Given the description of an element on the screen output the (x, y) to click on. 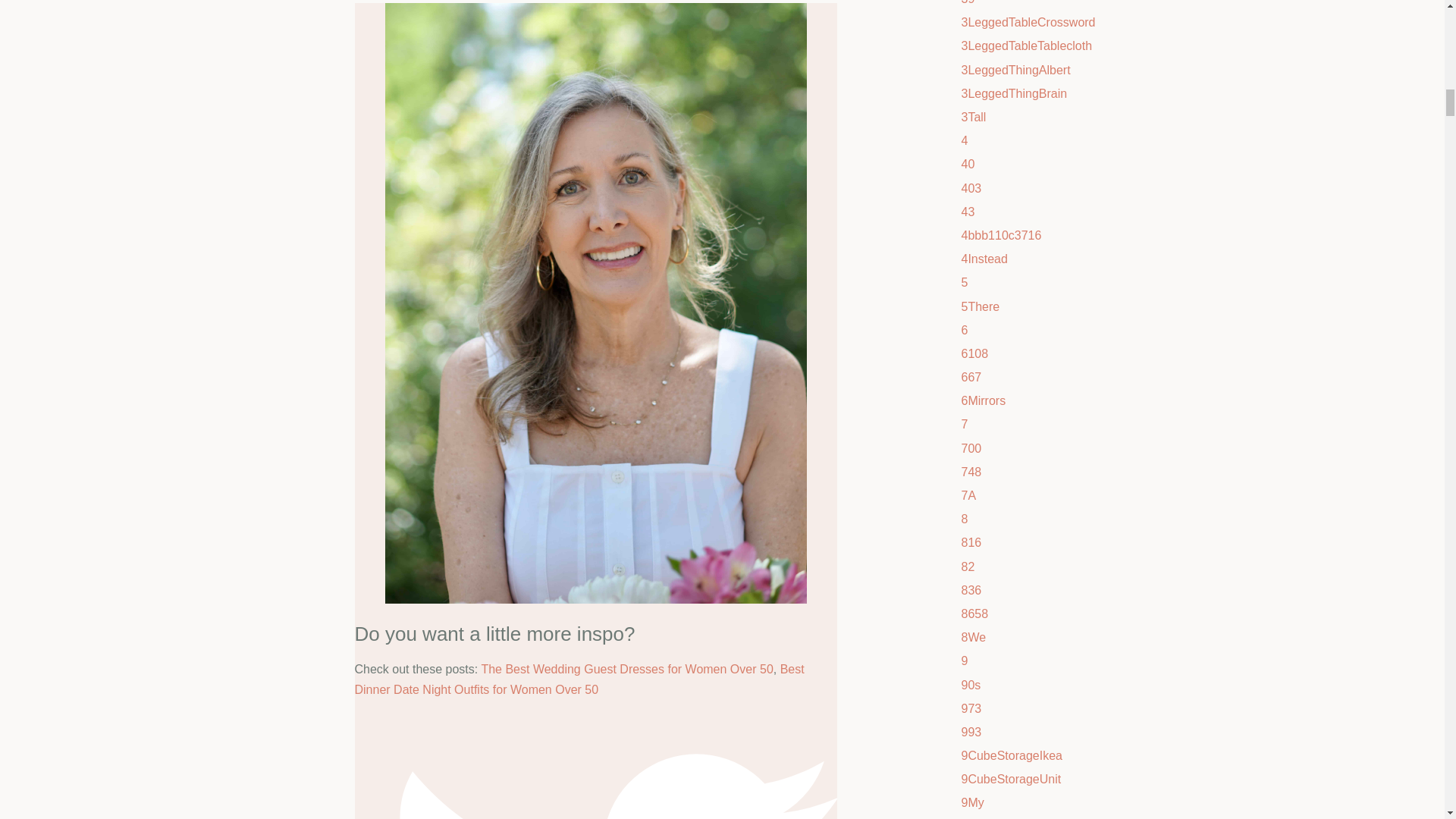
Best Dinner Date Night Outfits for Women Over 50 (580, 679)
The Best Wedding Guest Dresses for Women Over 50 (626, 668)
